Given the description of an element on the screen output the (x, y) to click on. 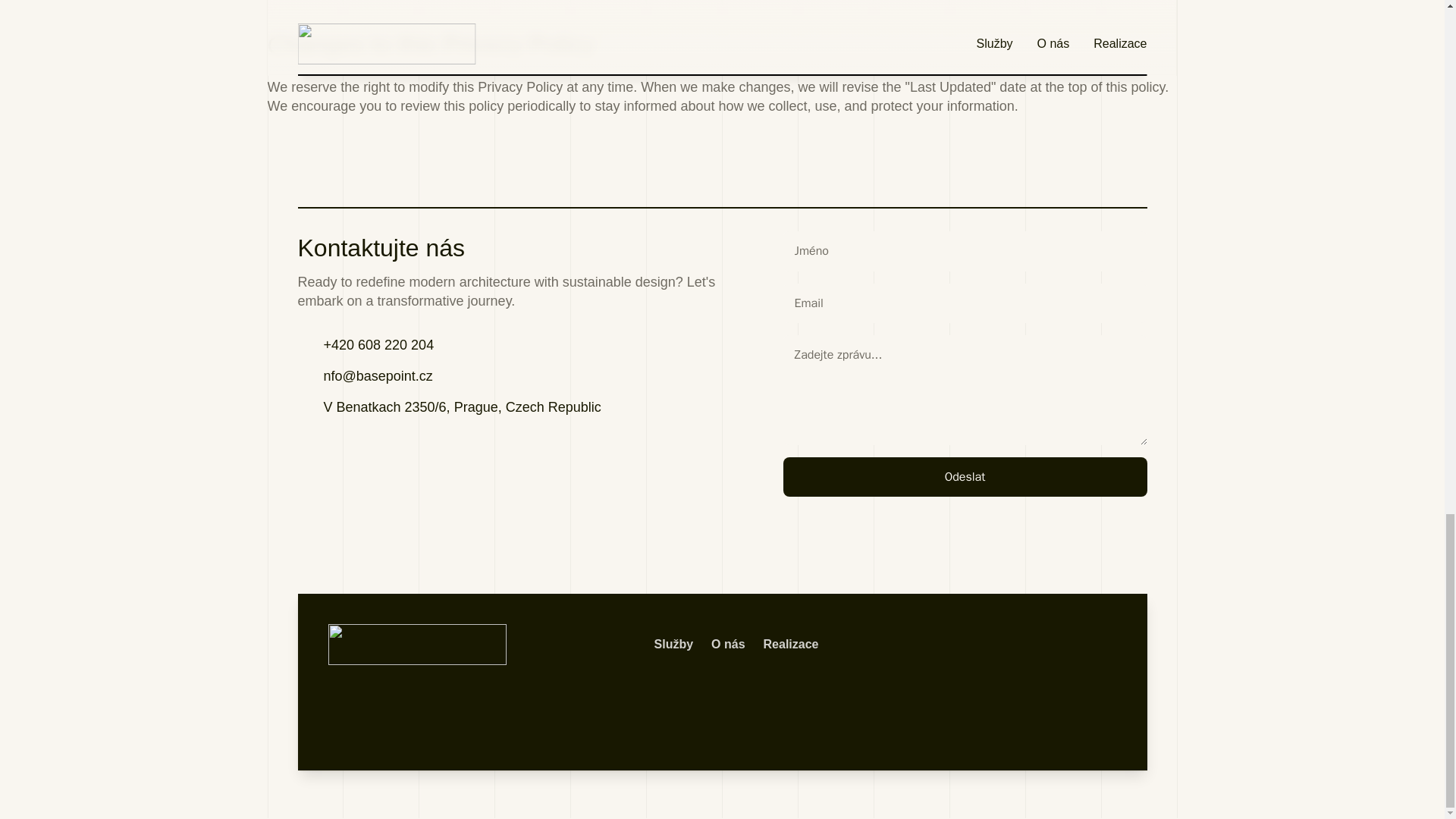
Odeslat (965, 476)
Odeslat (965, 476)
Realizace (790, 644)
